Given the description of an element on the screen output the (x, y) to click on. 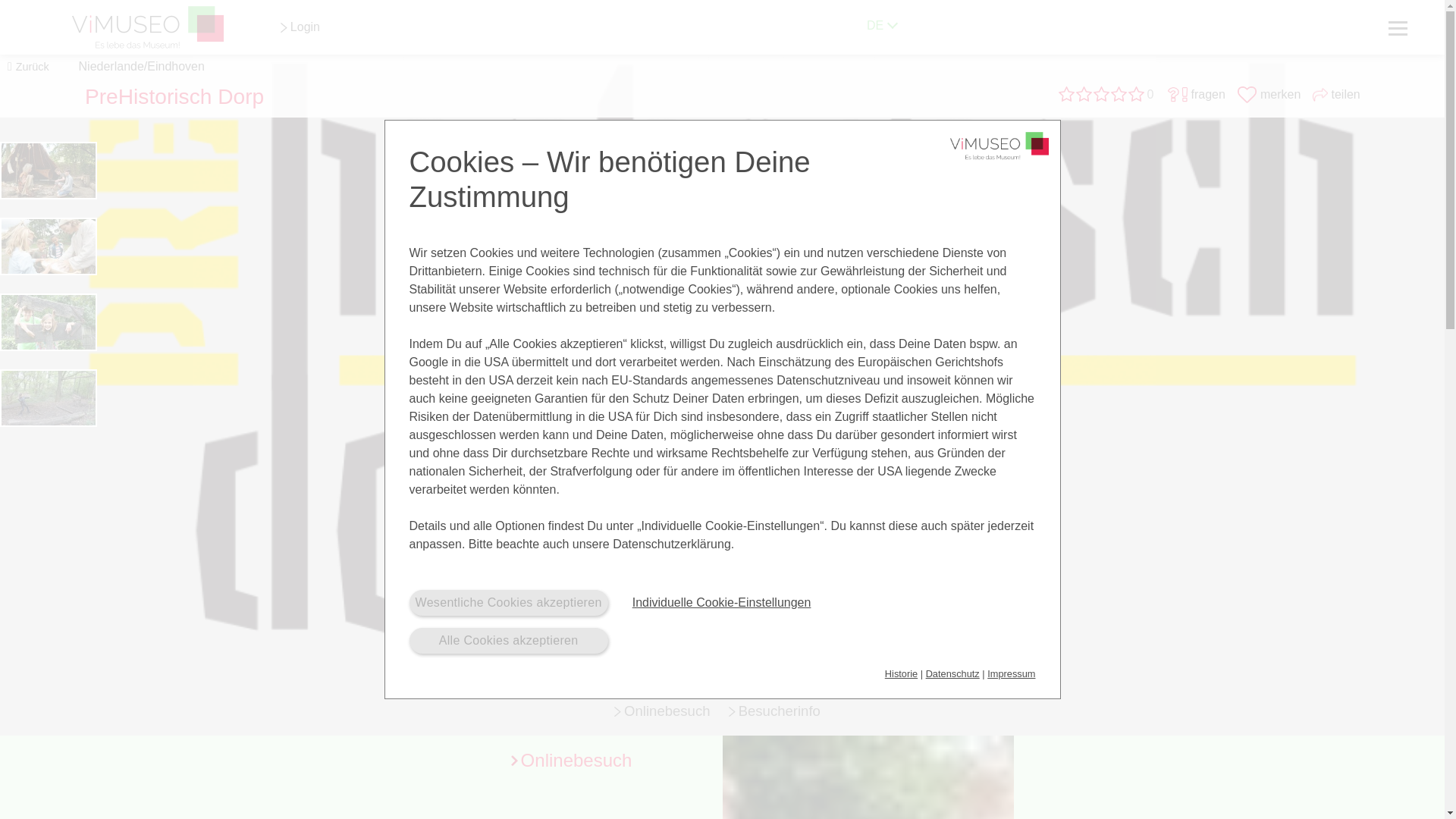
Onlinebesuch (667, 711)
Alle Cookies akzeptieren (508, 640)
fragen (1208, 93)
Individuelle Cookie-Einstellungen (720, 602)
0 (1107, 97)
Onlinebesuch (722, 777)
Impressum (1011, 673)
Besucherinfo (779, 711)
Datenschutz (952, 673)
Wesentliche Cookies akzeptieren (508, 602)
PreHistorisch Dorp (173, 96)
